Given the description of an element on the screen output the (x, y) to click on. 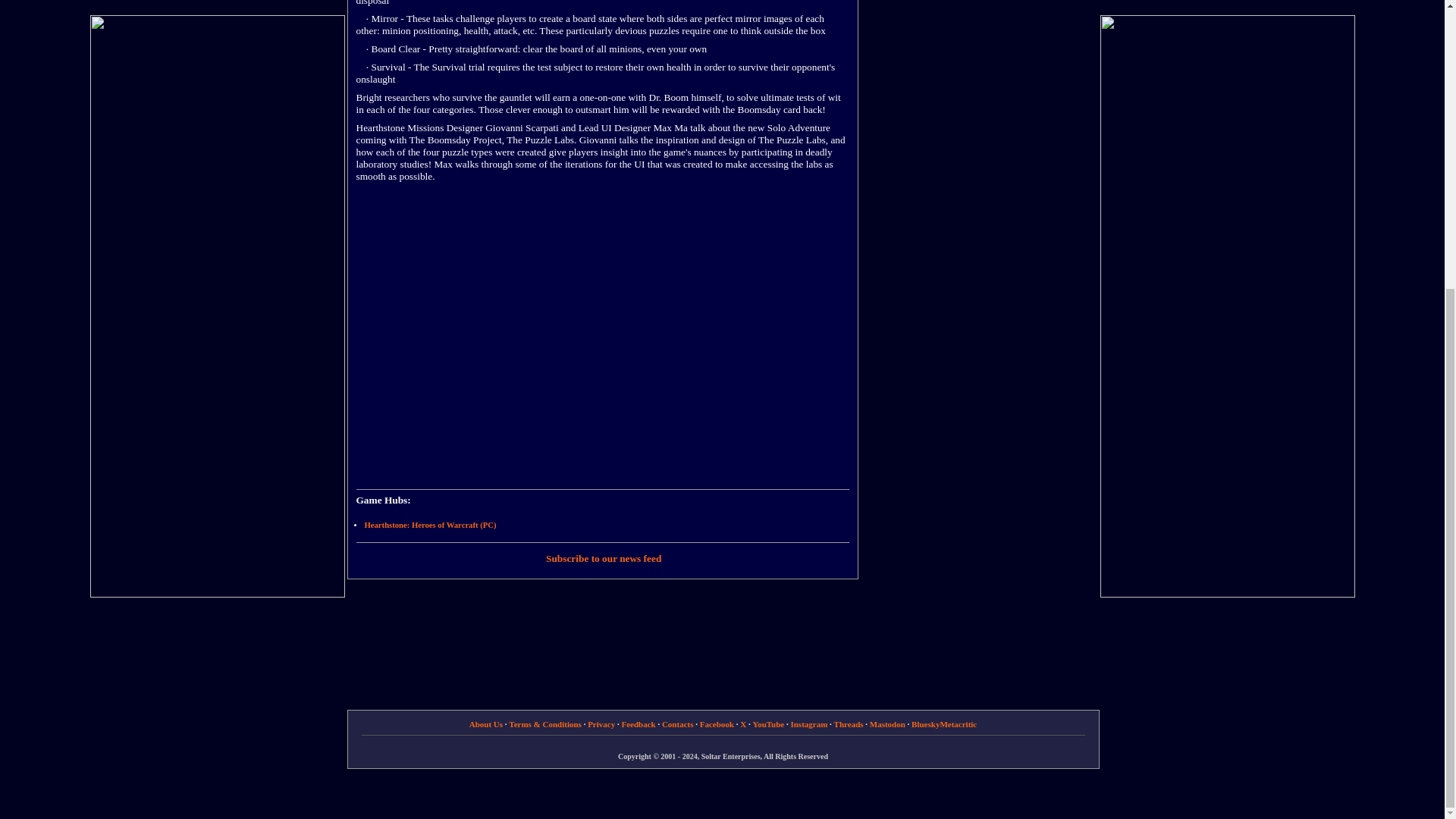
Threads (848, 723)
Subscribe to our news feed (603, 558)
Facebook (716, 723)
Advertisement (983, 108)
Contacts (678, 723)
Metacritic (957, 723)
Mastodon (887, 723)
Privacy (601, 723)
About Us (485, 723)
Instagram (808, 723)
